Given the description of an element on the screen output the (x, y) to click on. 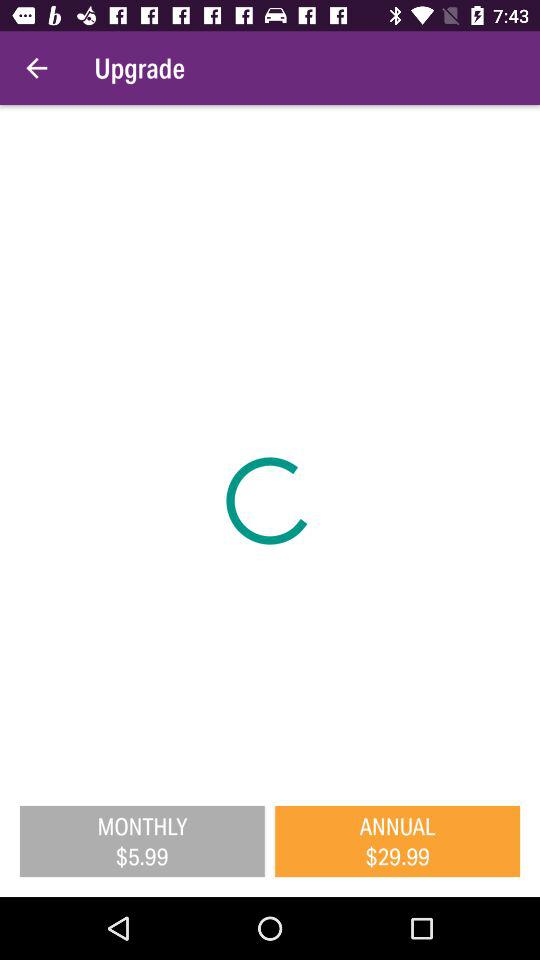
turn off the annual
$29.99 item (397, 841)
